Given the description of an element on the screen output the (x, y) to click on. 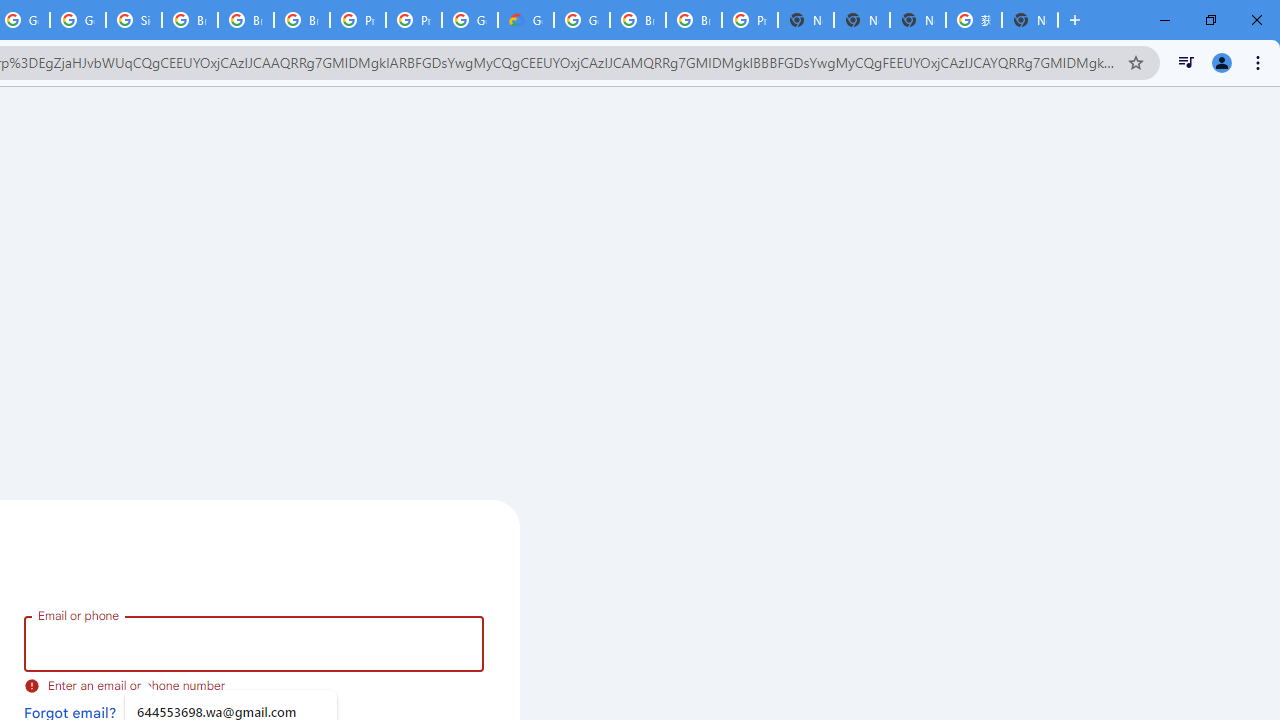
Google Cloud Platform (582, 20)
Browse Chrome as a guest - Computer - Google Chrome Help (301, 20)
Sign in - Google Accounts (134, 20)
Browse Chrome as a guest - Computer - Google Chrome Help (189, 20)
Browse Chrome as a guest - Computer - Google Chrome Help (637, 20)
New Tab (1030, 20)
Browse Chrome as a guest - Computer - Google Chrome Help (693, 20)
